Given the description of an element on the screen output the (x, y) to click on. 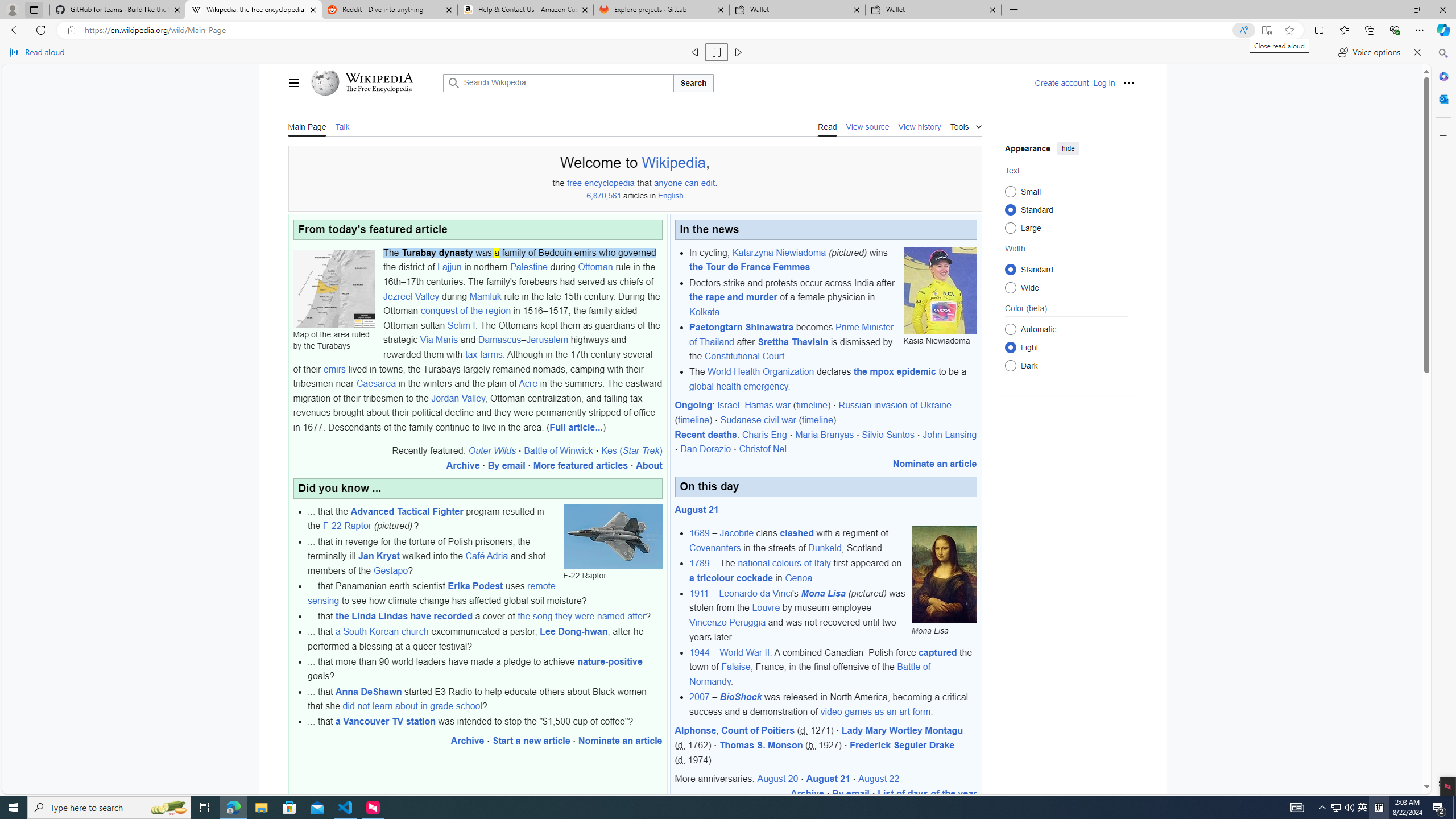
Main menu (292, 82)
Archive (807, 792)
More featured articles (580, 465)
Frederick Seguier Drake (902, 744)
a South Korean church (381, 631)
Read next paragraph (739, 52)
Vincenzo Peruggia (726, 622)
Charis Eng (764, 434)
Covenanters (714, 547)
Jacobite (736, 533)
